Given the description of an element on the screen output the (x, y) to click on. 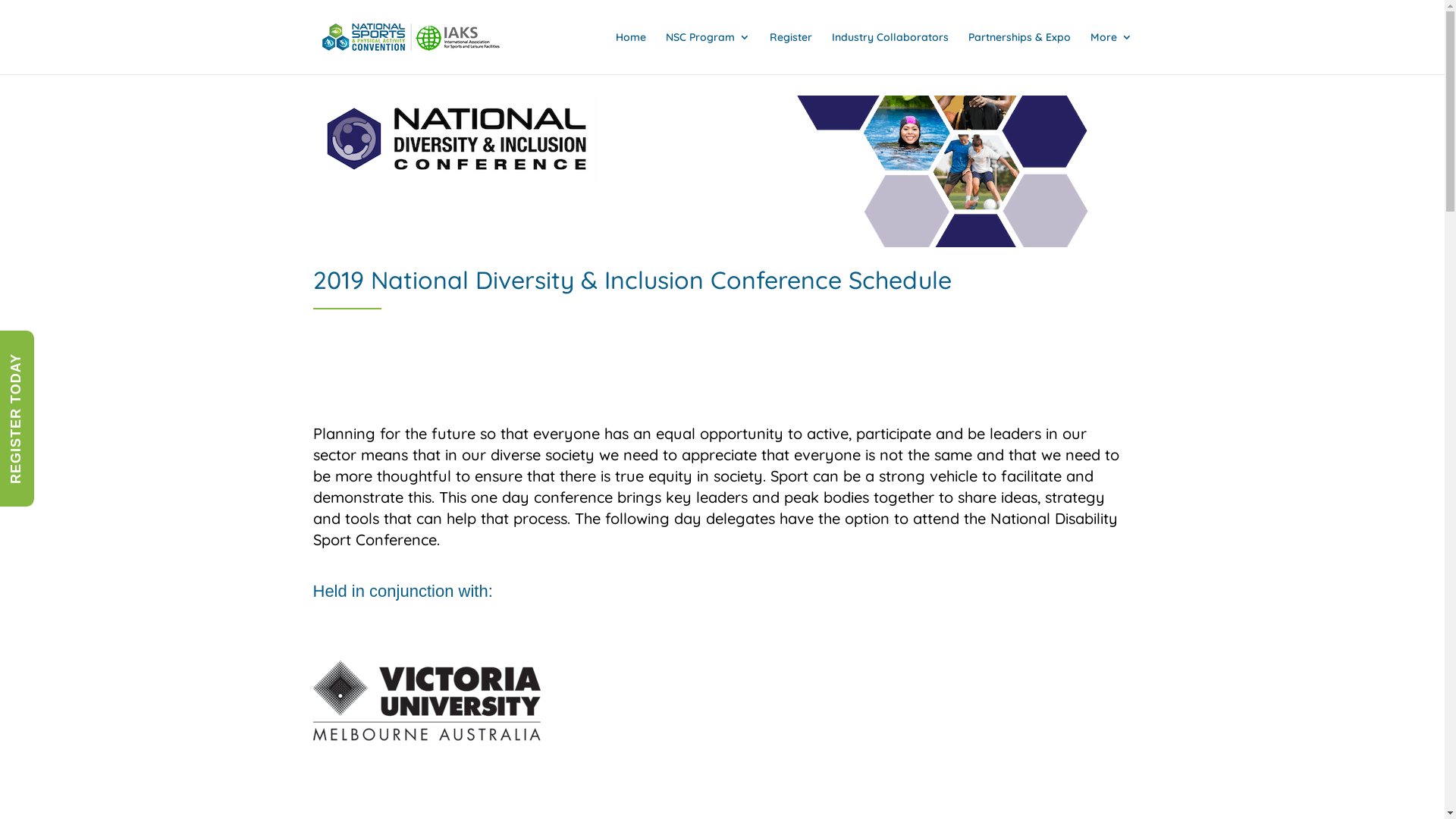
More Element type: text (1111, 52)
Register Element type: text (789, 52)
Industry Collaborators Element type: text (889, 52)
Partnerships & Expo Element type: text (1018, 52)
NSC Program Element type: text (707, 52)
Home Element type: text (630, 52)
